Given the description of an element on the screen output the (x, y) to click on. 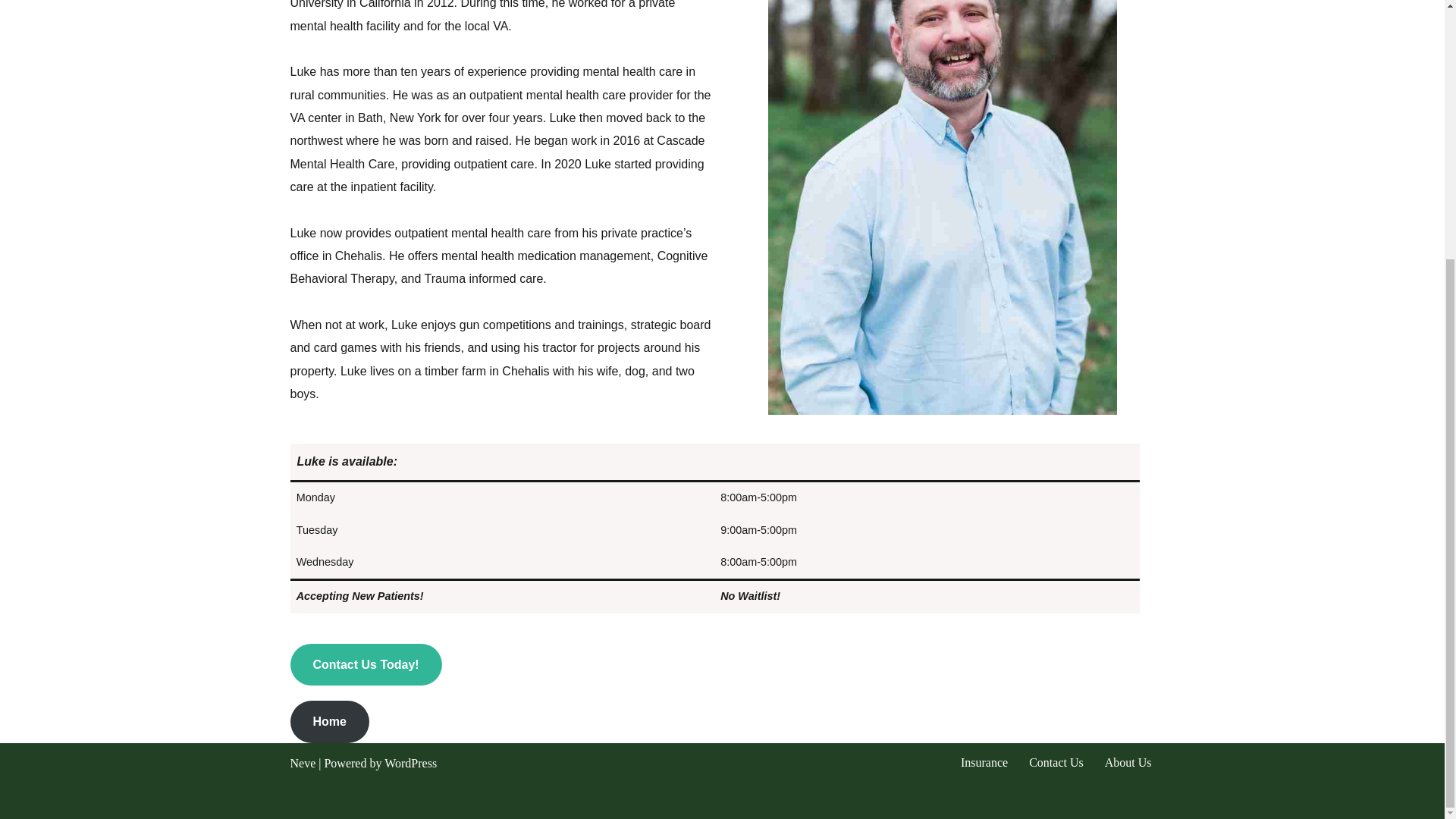
Contact Us (1056, 762)
Contact Us Today! (365, 664)
Home (328, 721)
Neve (302, 762)
WordPress (410, 762)
About Us (1128, 762)
Insurance (983, 762)
